Given the description of an element on the screen output the (x, y) to click on. 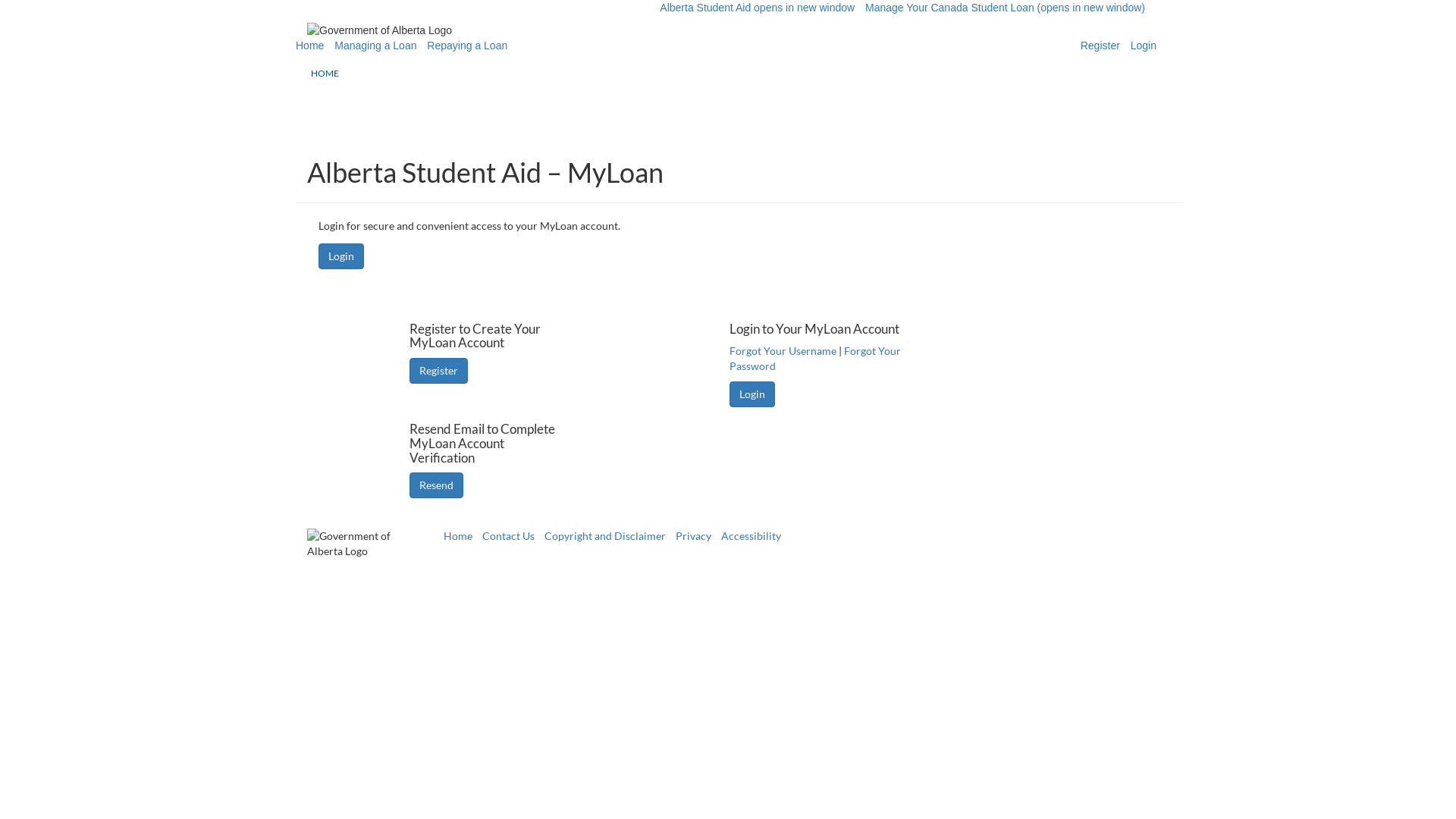
Managing a Loan Element type: text (375, 45)
Register Element type: text (1100, 45)
Register Element type: text (438, 370)
Repaying a Loan Element type: text (466, 45)
Login Element type: text (341, 256)
Manage Your Canada Student Loan (opens in new window) Element type: text (1005, 7)
Forgot Your Password Element type: text (814, 358)
Login Element type: text (1143, 45)
Alberta Student Aid opens in new window Element type: text (756, 7)
Home Element type: text (457, 535)
Accessibility Element type: text (751, 535)
Forgot Your Username Element type: text (782, 350)
Resend Element type: text (436, 485)
Copyright and Disclaimer Element type: text (604, 535)
Login Element type: text (752, 394)
Privacy Element type: text (693, 535)
Contact Us Element type: text (508, 535)
Home Element type: text (309, 45)
